Given the description of an element on the screen output the (x, y) to click on. 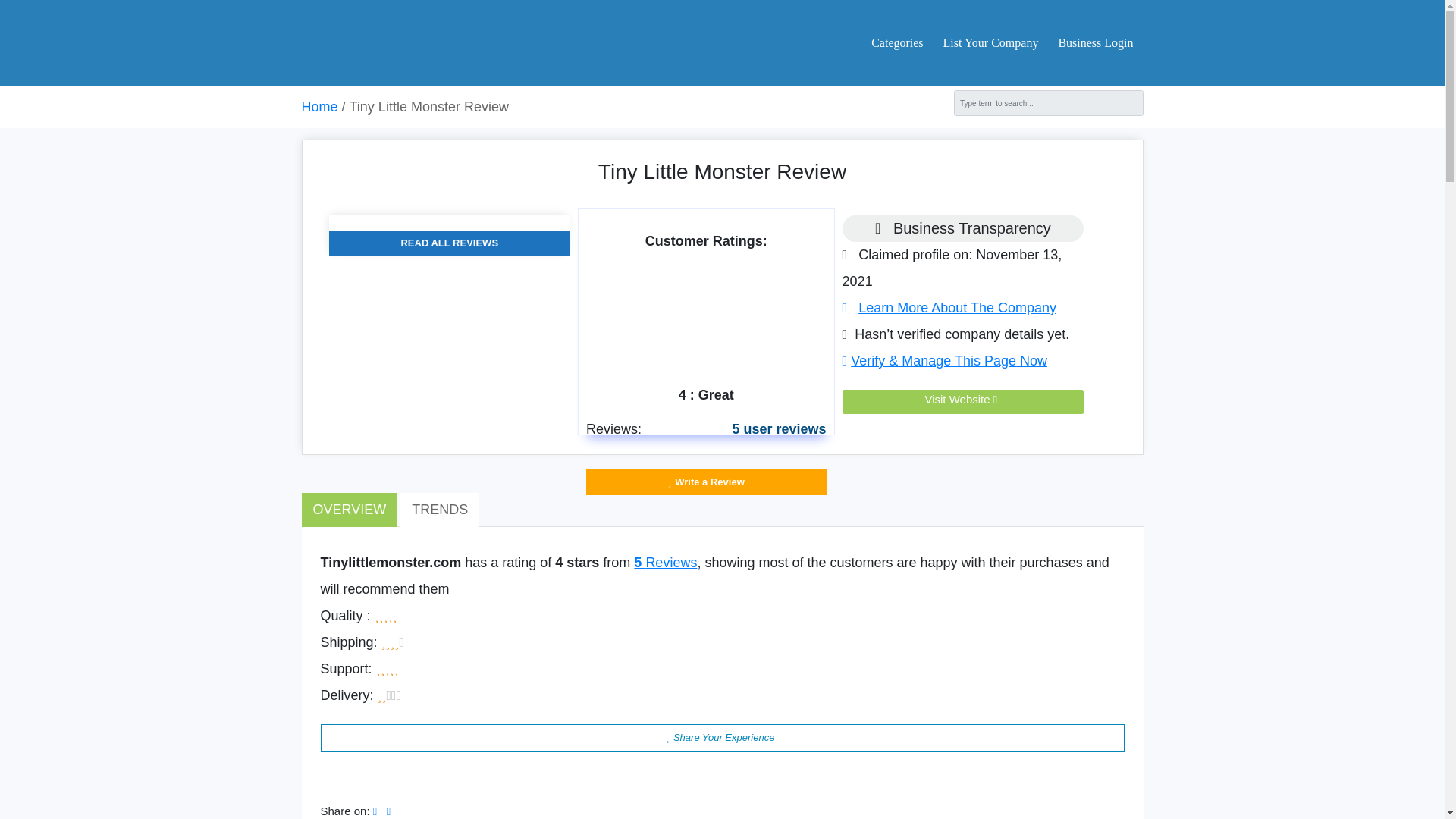
5 Reviews (665, 562)
TRENDS (439, 510)
List Your Company (991, 42)
Write a Review (706, 482)
List Your Company (991, 42)
  Learn More About The Company (950, 307)
OVERVIEW (349, 510)
Categories (896, 42)
Business Login (1090, 42)
READ ALL REVIEWS (449, 243)
Share Your Experience (722, 737)
Home (319, 106)
Business Login (1090, 42)
Categories (896, 42)
Visit Website (962, 399)
